Given the description of an element on the screen output the (x, y) to click on. 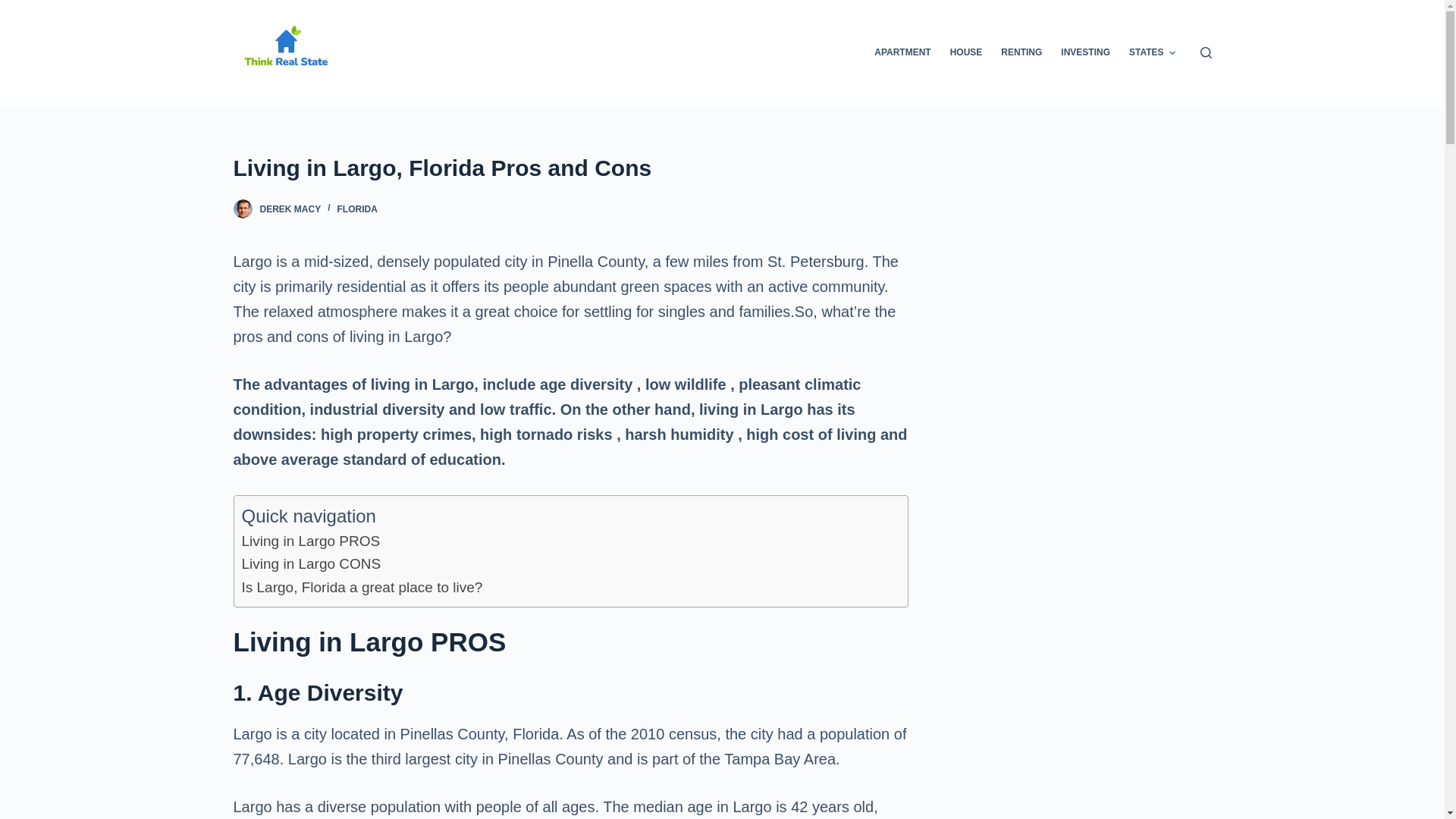
Living in Largo, Florida Pros and Cons (570, 167)
Posts by Derek Macy (289, 208)
Living in Largo PROS (310, 540)
Is Largo, Florida a great place to live? (361, 587)
Living in Largo CONS (310, 563)
Skip to content (15, 7)
